Given the description of an element on the screen output the (x, y) to click on. 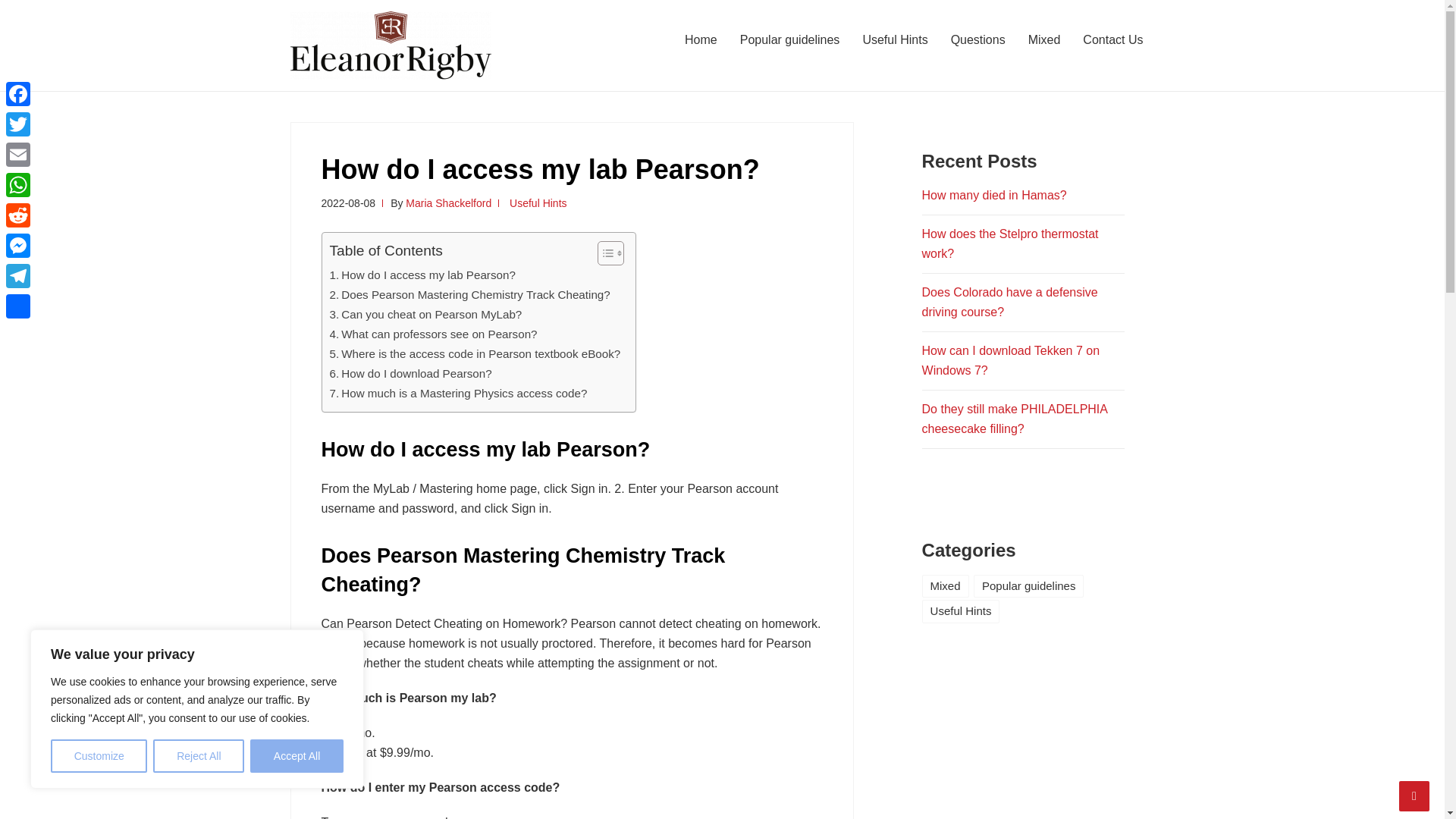
Accept All (296, 756)
How do I access my lab Pearson? (422, 275)
How much is a Mastering Physics access code? (457, 393)
Useful Hints (537, 203)
Where is the access code in Pearson textbook eBook? (474, 353)
View all posts by Maria Shackelford (449, 203)
Questions (977, 39)
Can you cheat on Pearson MyLab? (425, 314)
How do I access my lab Pearson? (422, 275)
Email (17, 154)
